Given the description of an element on the screen output the (x, y) to click on. 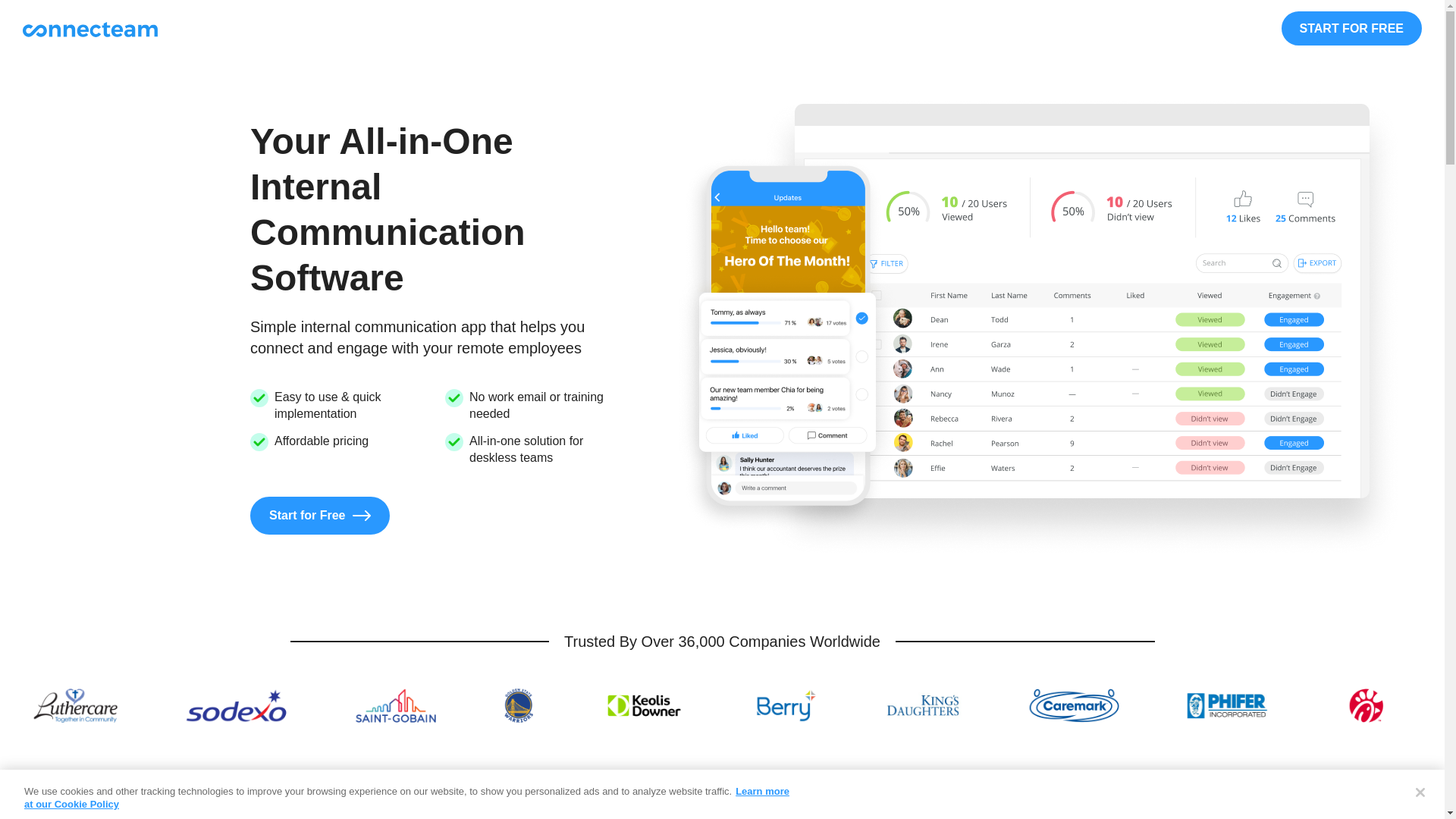
Learn more at our Cookie Policy (406, 797)
START FOR FREE (1351, 28)
Start for Free (320, 515)
Intercom live chat (1411, 785)
